Given the description of an element on the screen output the (x, y) to click on. 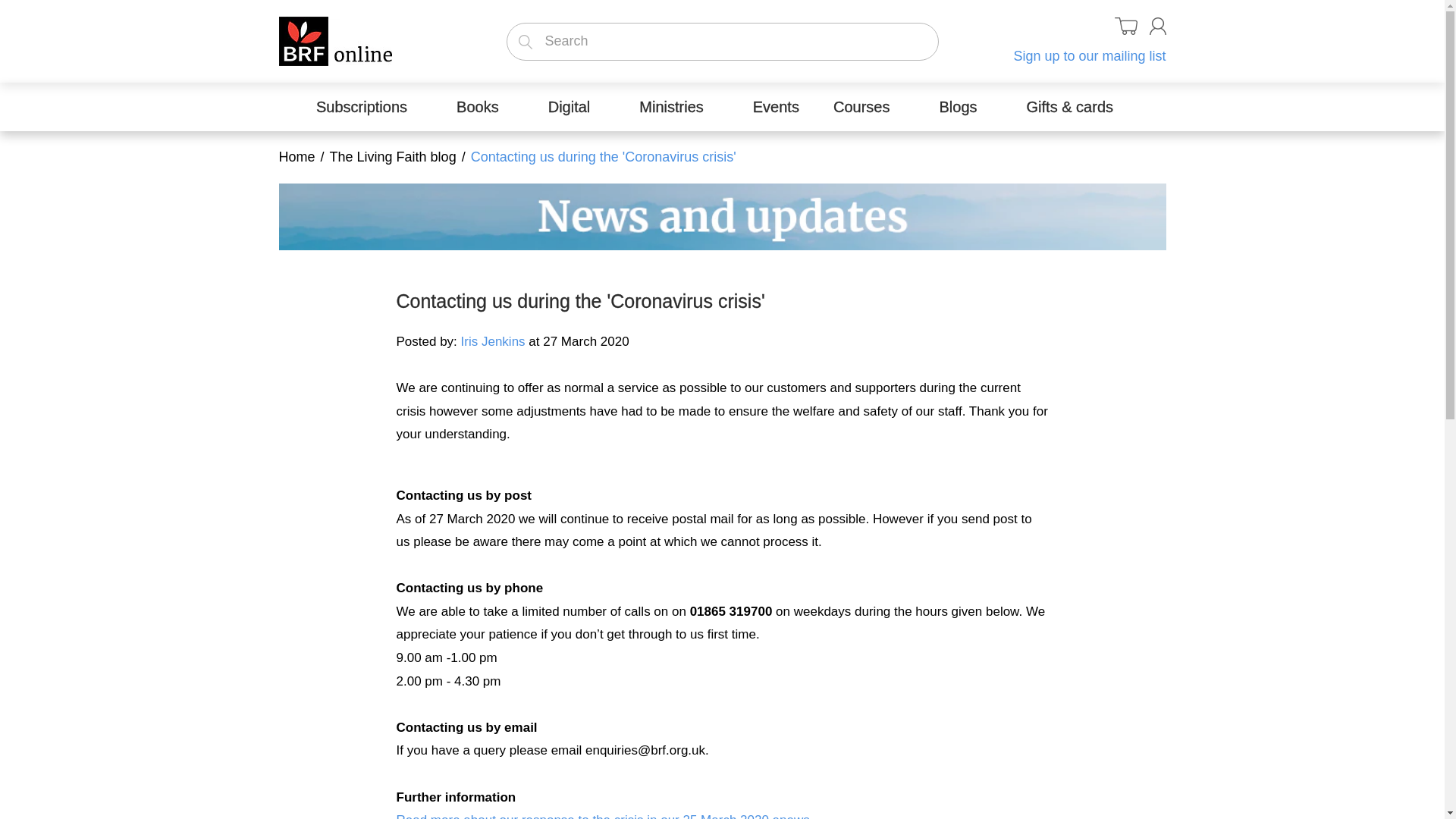
BRFonline (335, 38)
Account (1158, 26)
cart (1126, 26)
